Given the description of an element on the screen output the (x, y) to click on. 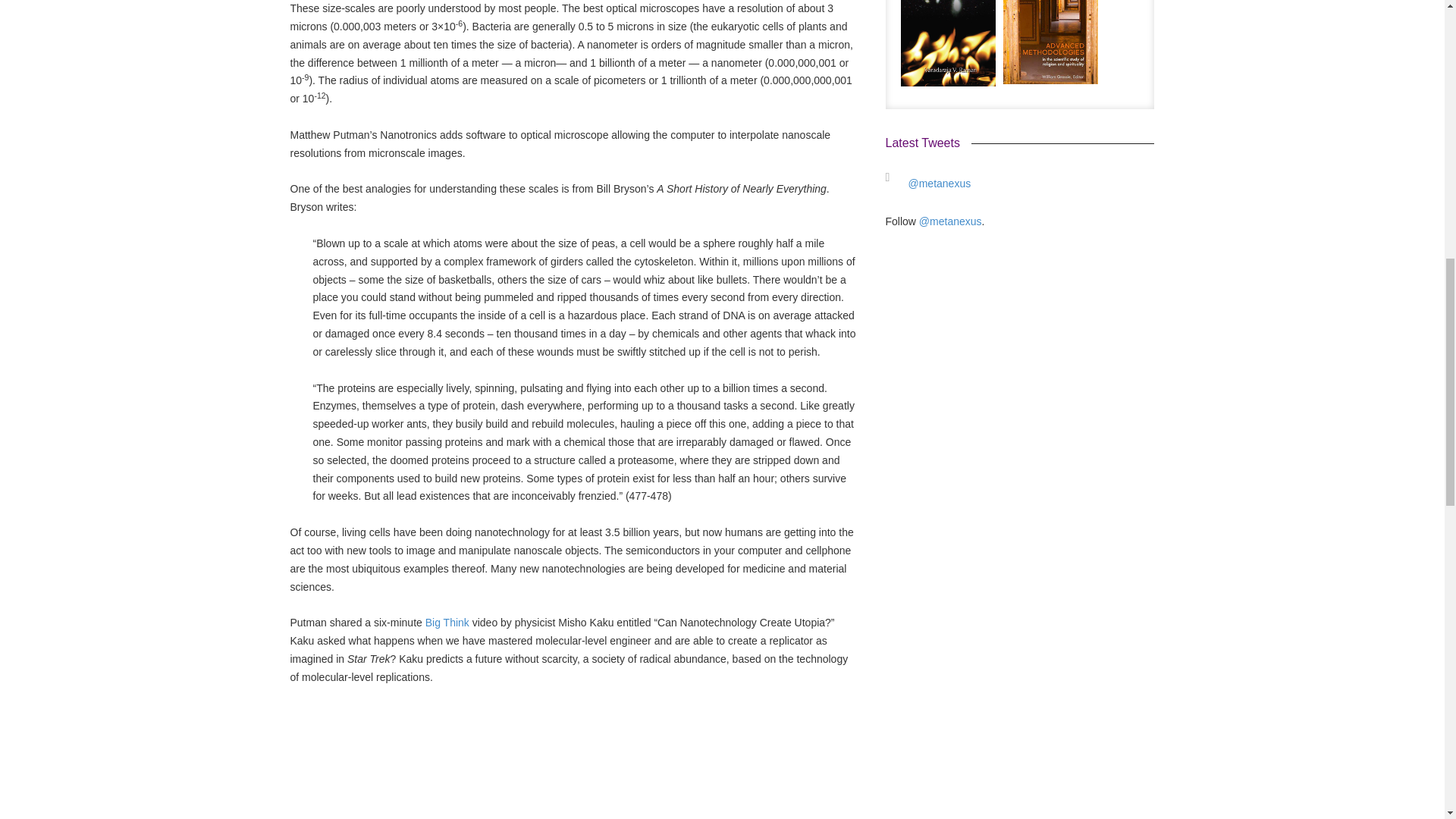
Big Think (446, 622)
